Given the description of an element on the screen output the (x, y) to click on. 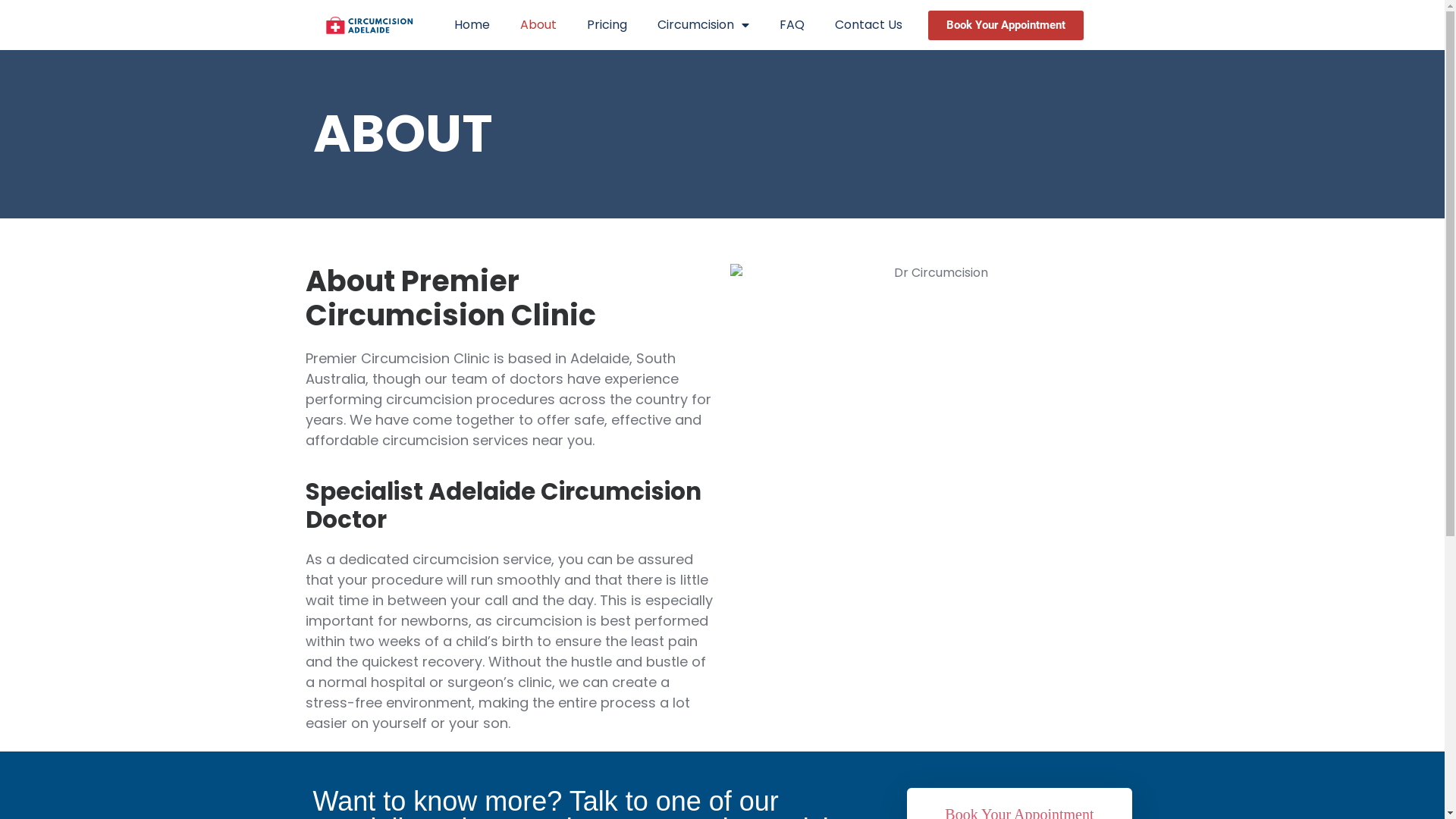
Home Element type: text (471, 24)
Circumcision Element type: text (702, 24)
Contact Us Element type: text (867, 24)
Book Your Appointment Element type: text (1005, 25)
FAQ Element type: text (791, 24)
Pricing Element type: text (606, 24)
About Element type: text (538, 24)
